Given the description of an element on the screen output the (x, y) to click on. 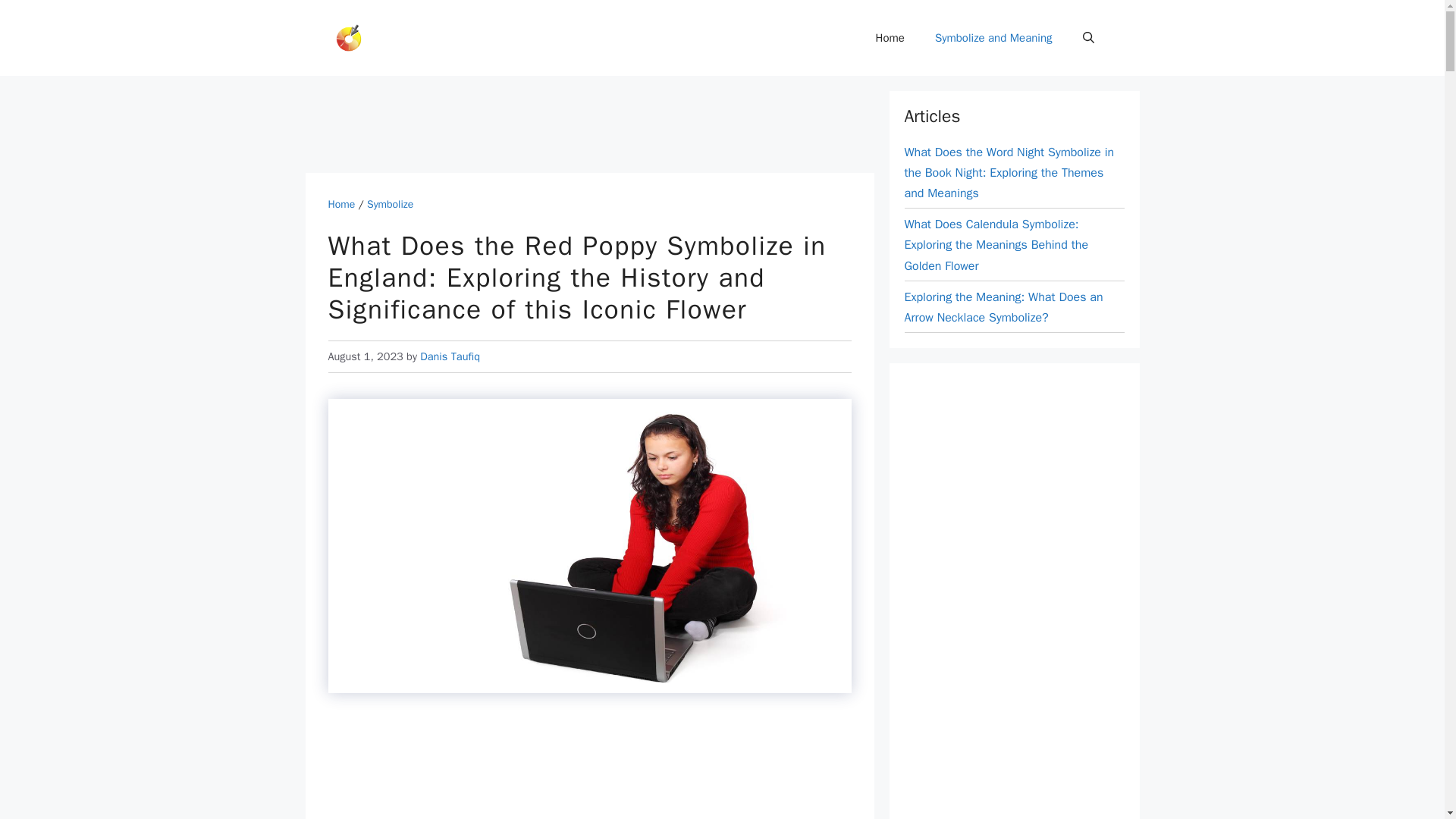
Symbolize and Meaning (993, 37)
Home (890, 37)
Danis Taufiq (450, 356)
View all posts by Danis Taufiq (450, 356)
Symbolize (389, 204)
Home (341, 204)
